Given the description of an element on the screen output the (x, y) to click on. 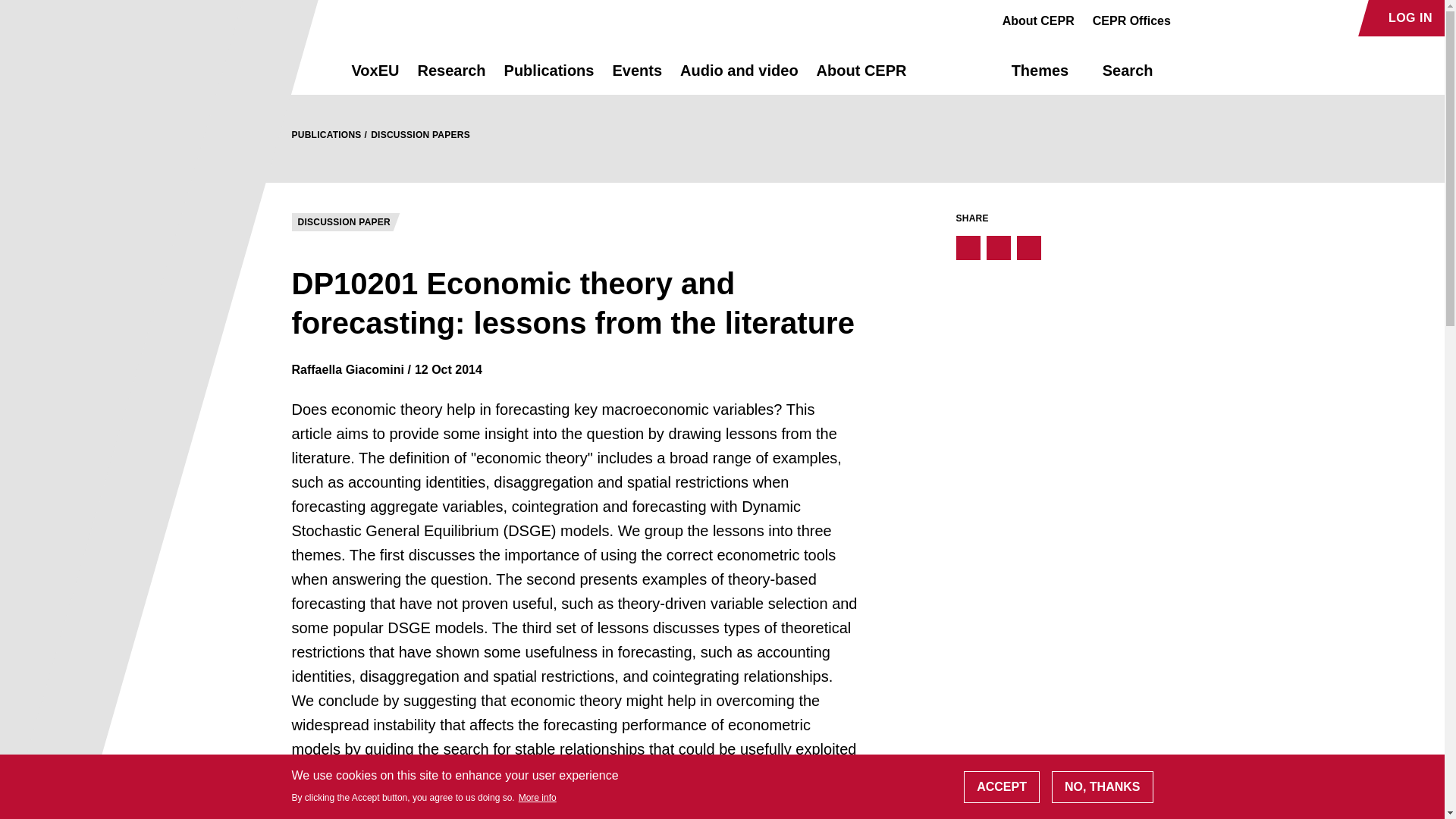
VoxEU (375, 77)
Audio and video (738, 77)
Go to Facebook profile (1190, 17)
Return to the homepage (293, 69)
Research (450, 77)
Add to basket (352, 811)
Go to Linkedin profile (1243, 18)
Go to Audioboom profile (1217, 17)
Events (636, 77)
Publications (548, 77)
